Given the description of an element on the screen output the (x, y) to click on. 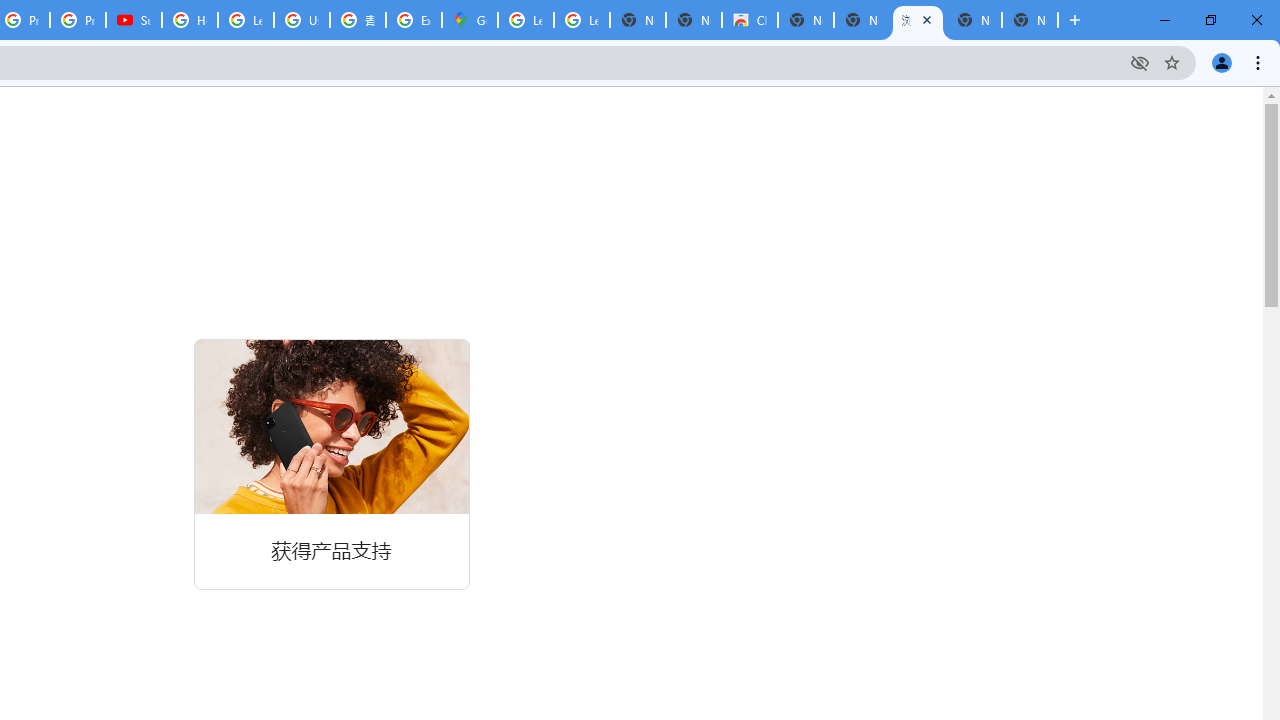
Explore new street-level details - Google Maps Help (413, 20)
New Tab (1030, 20)
